Given the description of an element on the screen output the (x, y) to click on. 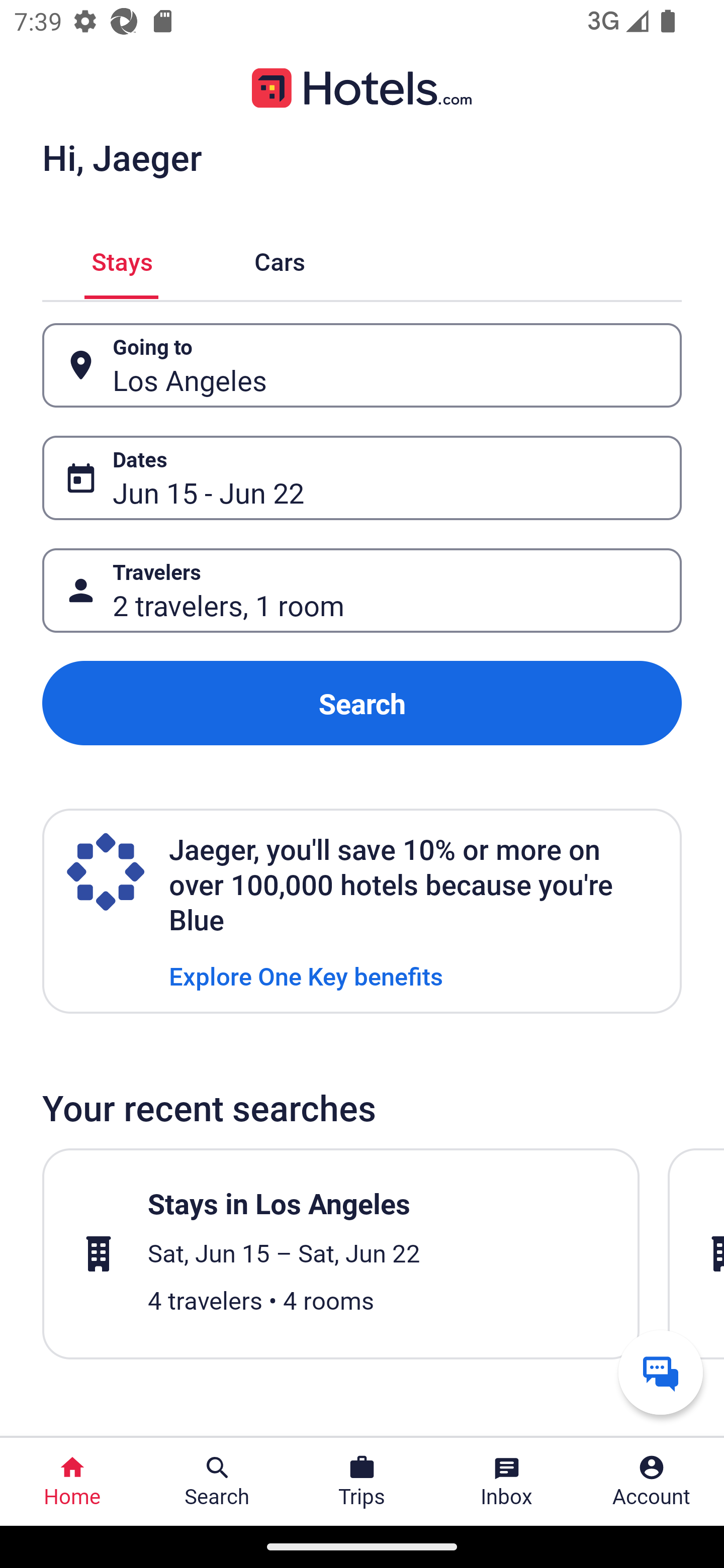
Hi, Jaeger (121, 156)
Cars (279, 259)
Going to Button Los Angeles (361, 365)
Dates Button Jun 15 - Jun 22 (361, 477)
Travelers Button 2 travelers, 1 room (361, 590)
Search (361, 702)
Get help from a virtual agent (660, 1371)
Search Search Button (216, 1481)
Trips Trips Button (361, 1481)
Inbox Inbox Button (506, 1481)
Account Profile. Button (651, 1481)
